Given the description of an element on the screen output the (x, y) to click on. 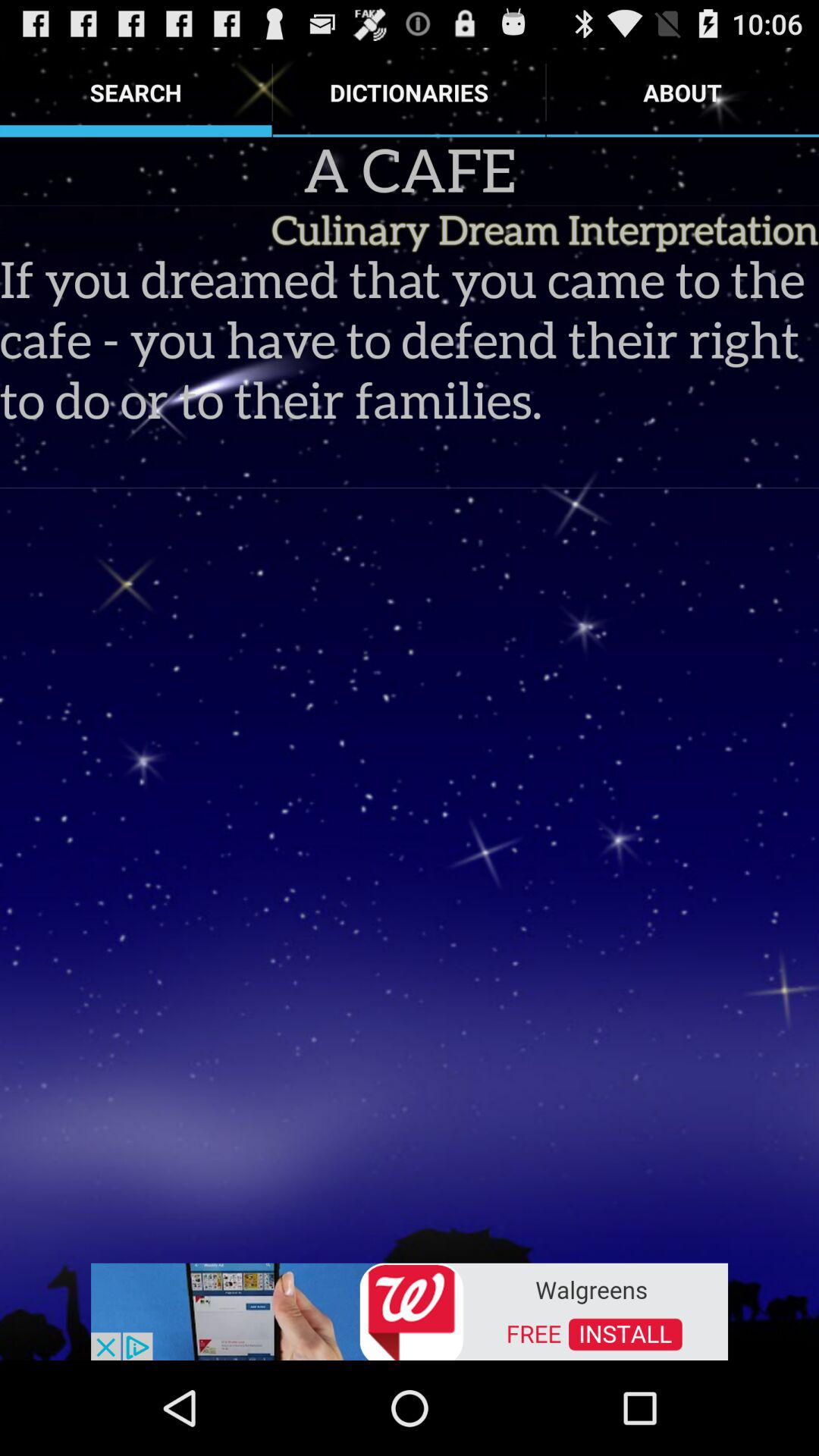
advertisement (409, 1310)
